Given the description of an element on the screen output the (x, y) to click on. 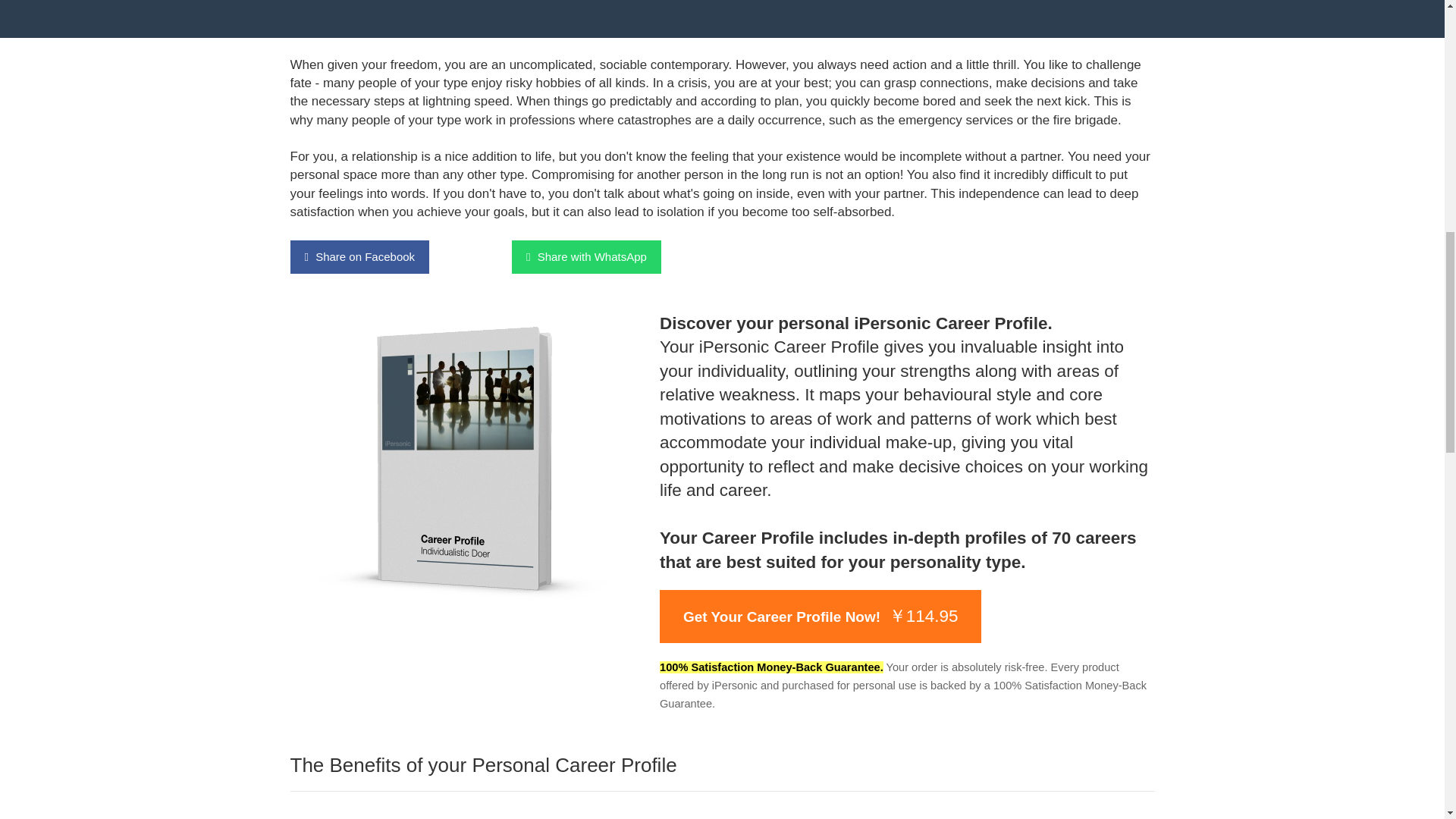
Share with WhatsApp (586, 256)
Share on Facebook (359, 256)
